Given the description of an element on the screen output the (x, y) to click on. 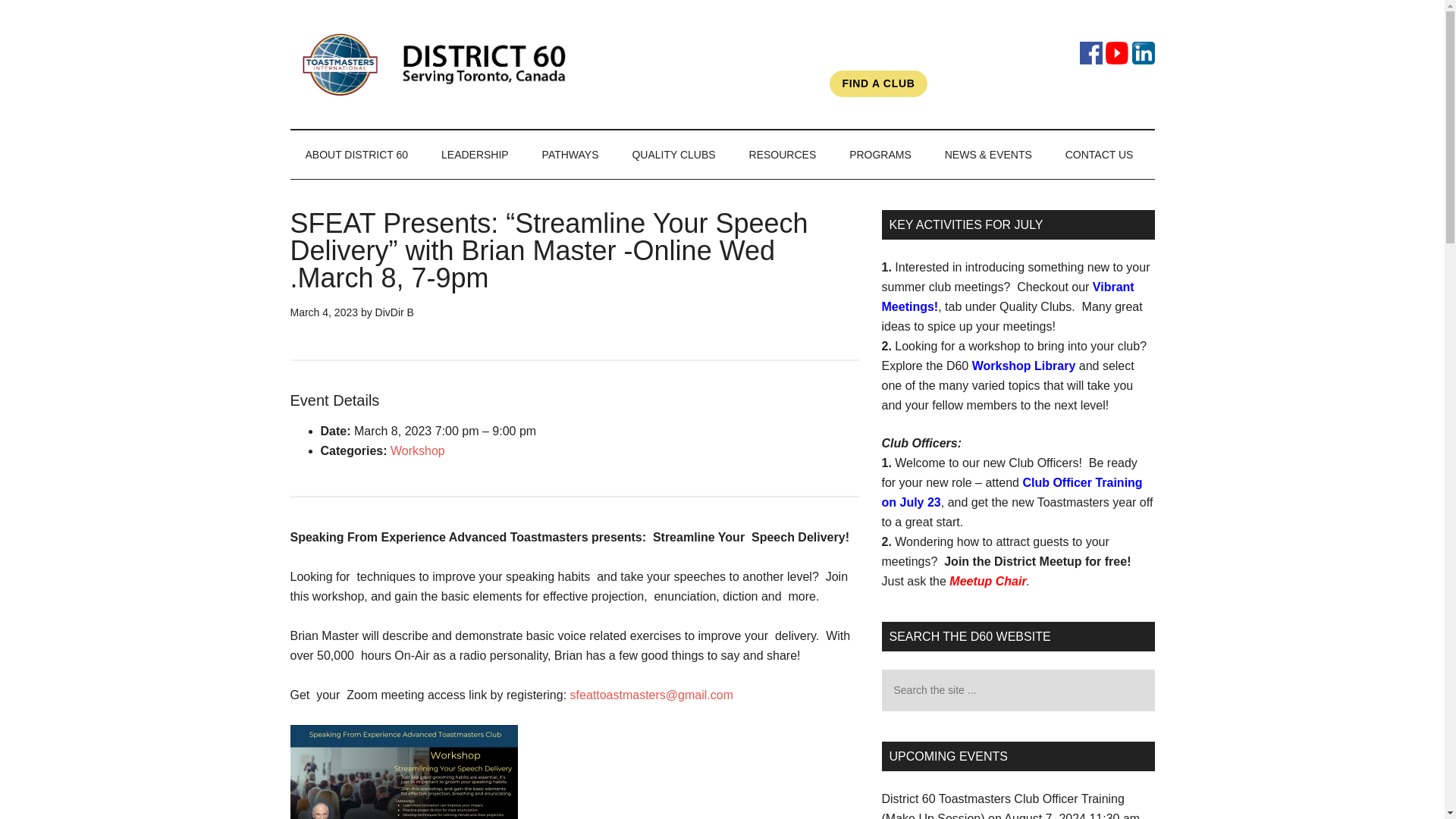
PATHWAYS (570, 154)
FIND A CLUB (877, 83)
LEADERSHIP (475, 154)
District 60 serving Toronto, Canada (433, 64)
ABOUT DISTRICT 60 (356, 154)
QUALITY CLUBS (672, 154)
